Given the description of an element on the screen output the (x, y) to click on. 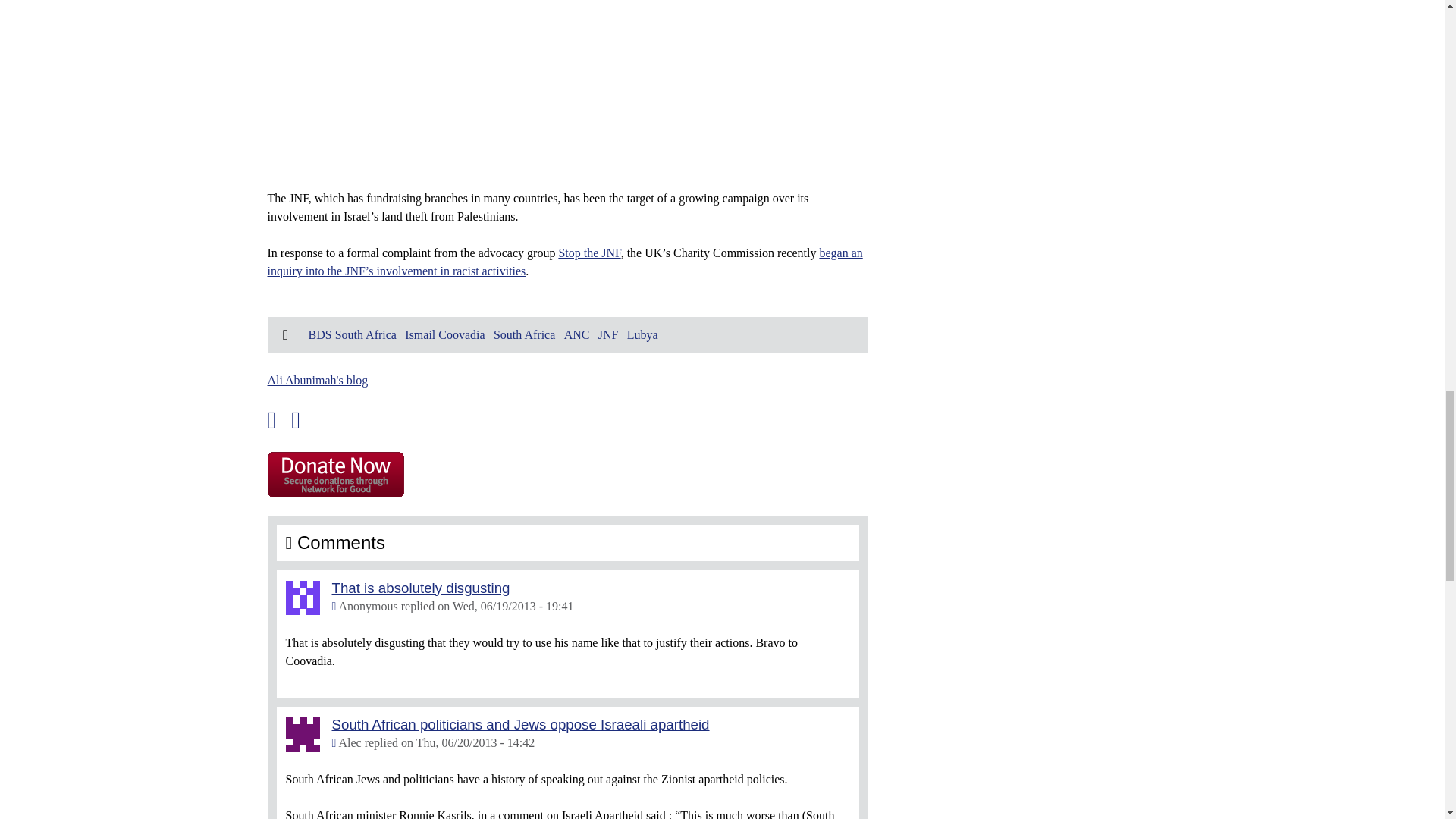
South African politicians and Jews oppose Israeali apartheid (520, 723)
BDS South Africa (351, 333)
South Africa (523, 333)
Lubya (642, 333)
That is absolutely disgusting (421, 587)
Read Ali Abunimah's latest blog entries. (317, 379)
JNF (608, 333)
ANC (576, 333)
Ali Abunimah's blog (317, 379)
Stop the JNF (588, 251)
